Given the description of an element on the screen output the (x, y) to click on. 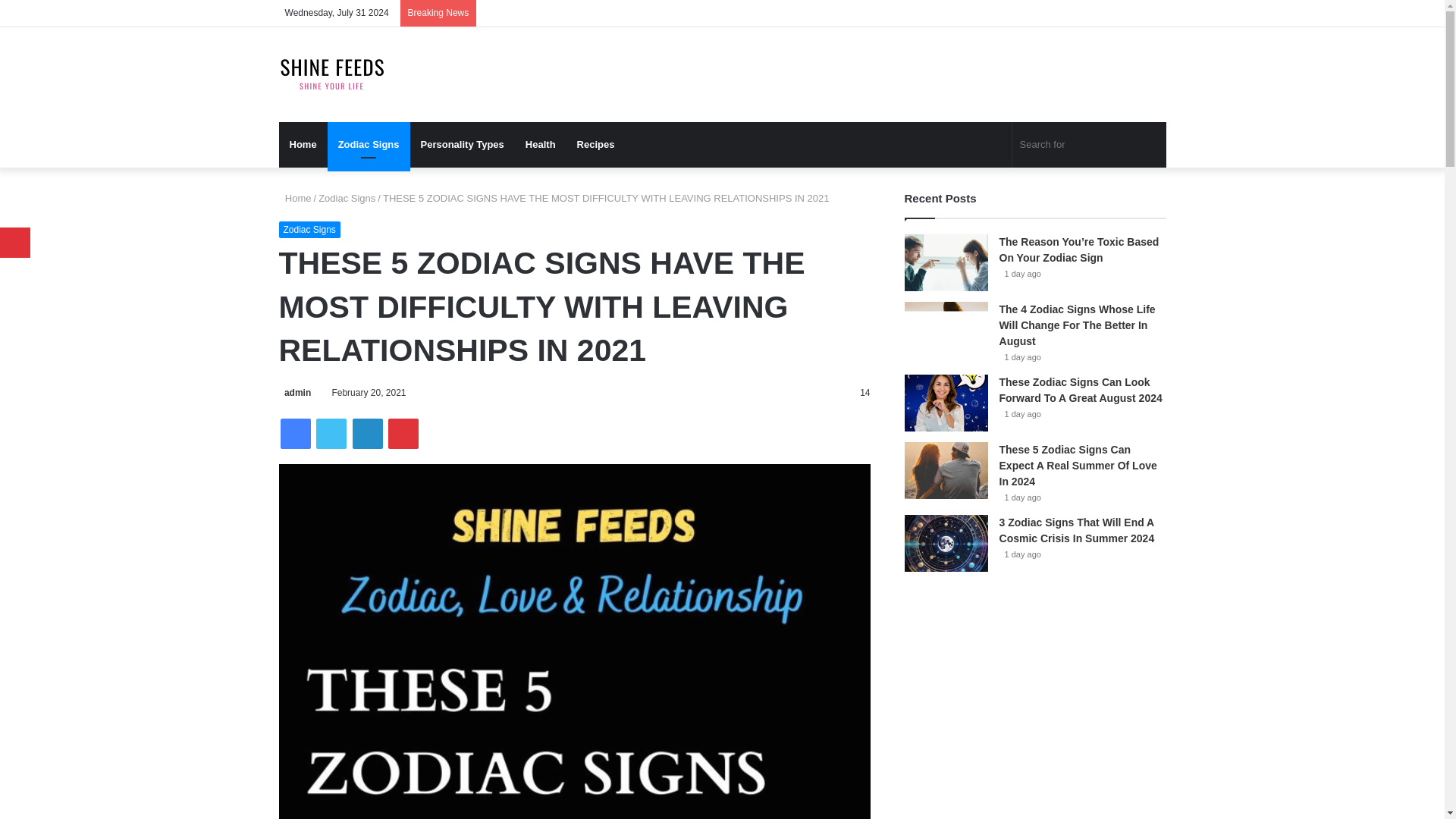
Personality Types (462, 144)
admin (295, 392)
Zodiac Signs (346, 197)
Home (295, 197)
Health (540, 144)
Twitter (330, 433)
Zodiac Signs (309, 229)
Recipes (596, 144)
Home (303, 144)
Facebook (296, 433)
admin (295, 392)
LinkedIn (367, 433)
ShineFeeds (332, 74)
LinkedIn (367, 433)
Pinterest (403, 433)
